Given the description of an element on the screen output the (x, y) to click on. 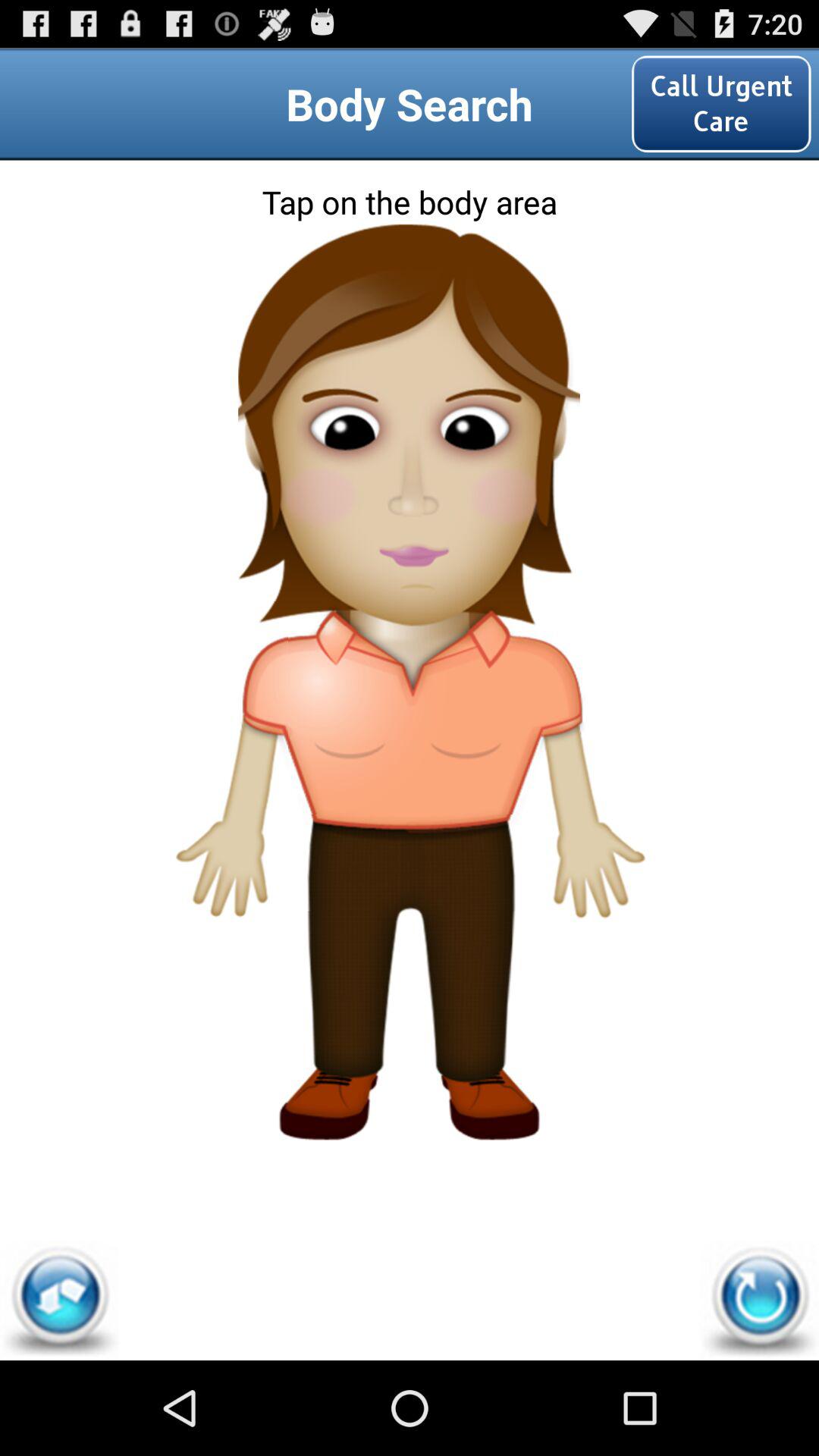
tap icon at the bottom right corner (759, 1300)
